Given the description of an element on the screen output the (x, y) to click on. 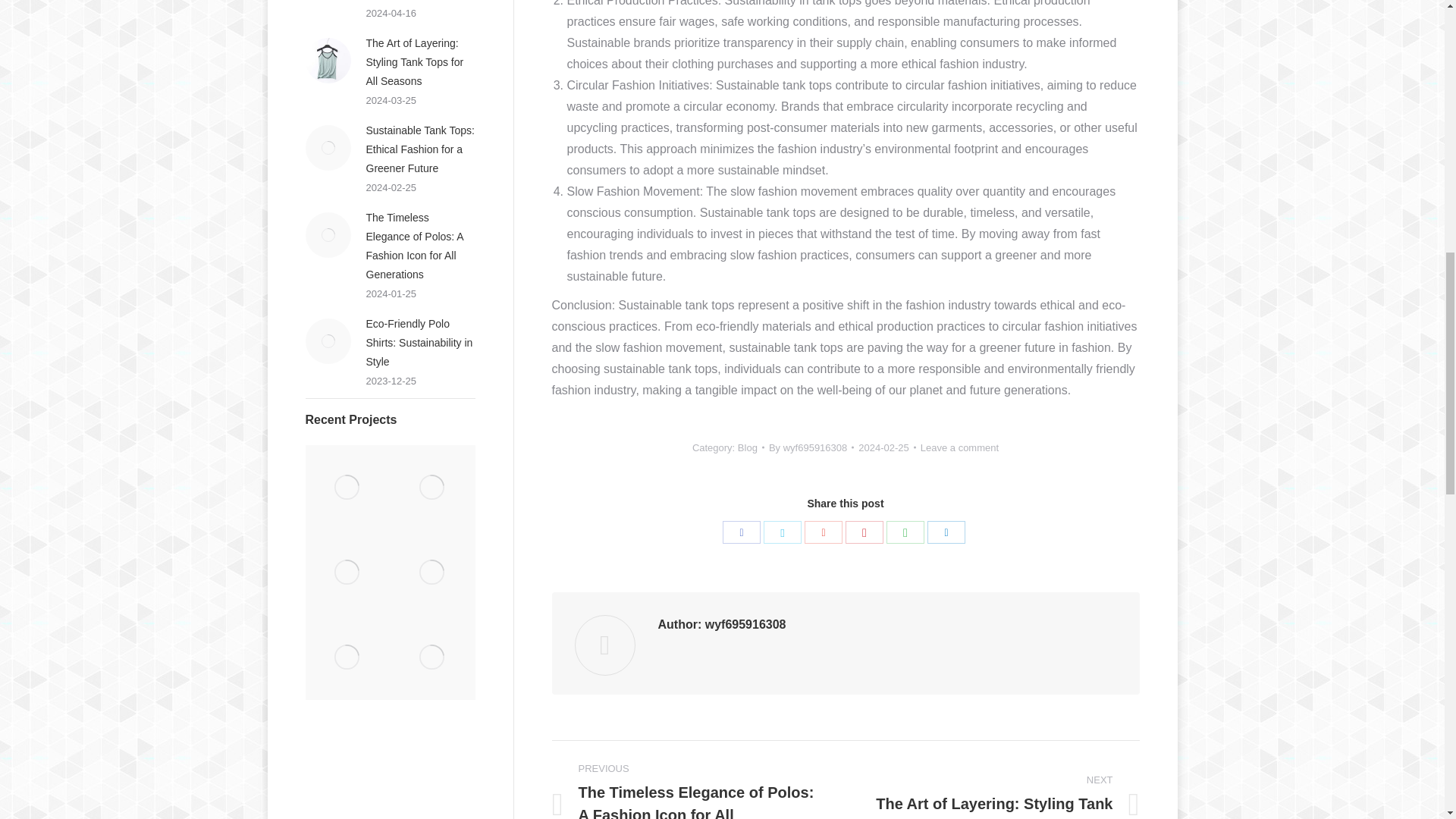
Facebook (741, 531)
Twitter (782, 531)
WhatsApp (905, 531)
View all posts by wyf695916308 (810, 447)
14:28 (887, 447)
Pinterest (864, 531)
